Given the description of an element on the screen output the (x, y) to click on. 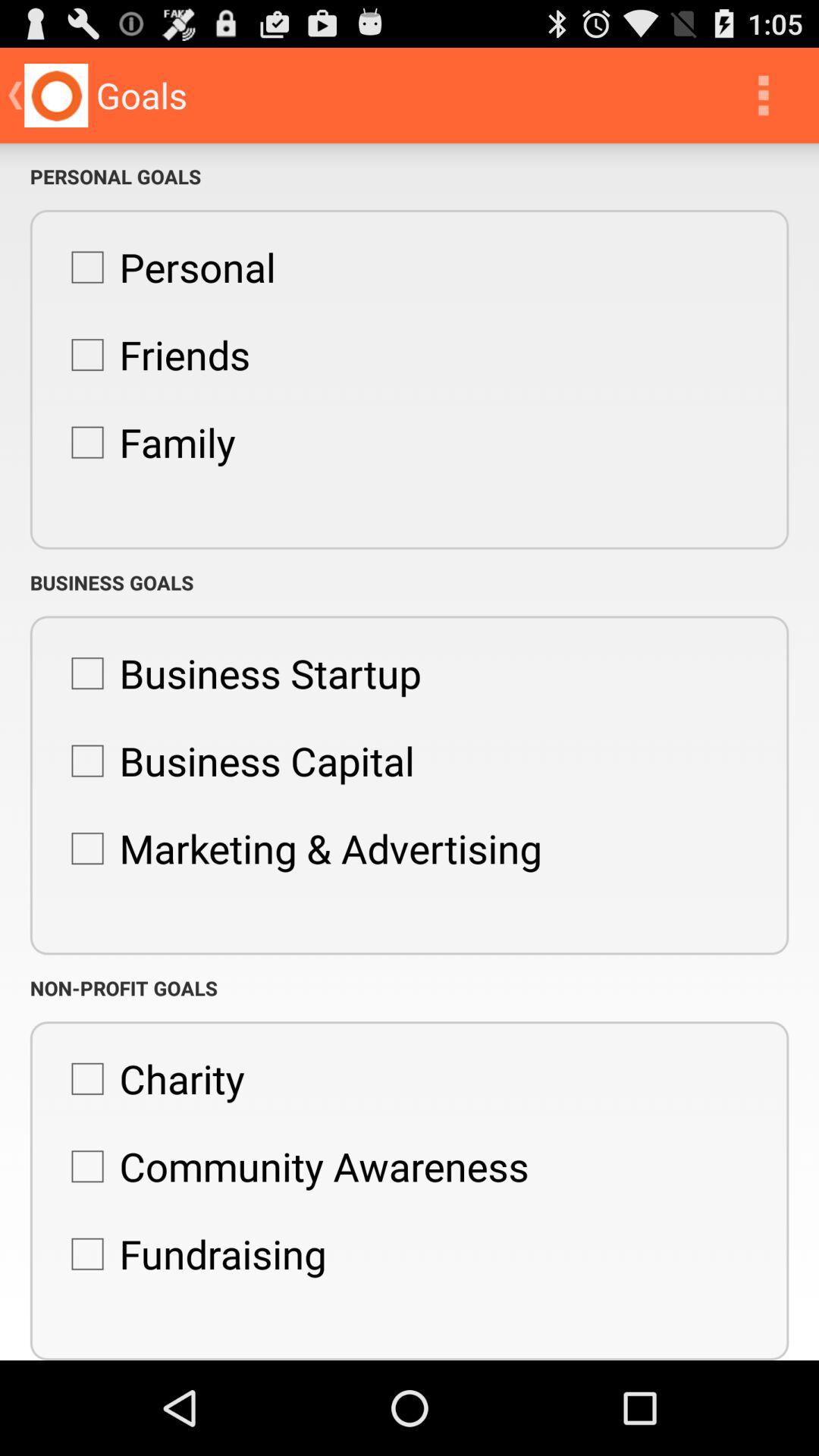
select icon above community awareness icon (149, 1078)
